Given the description of an element on the screen output the (x, y) to click on. 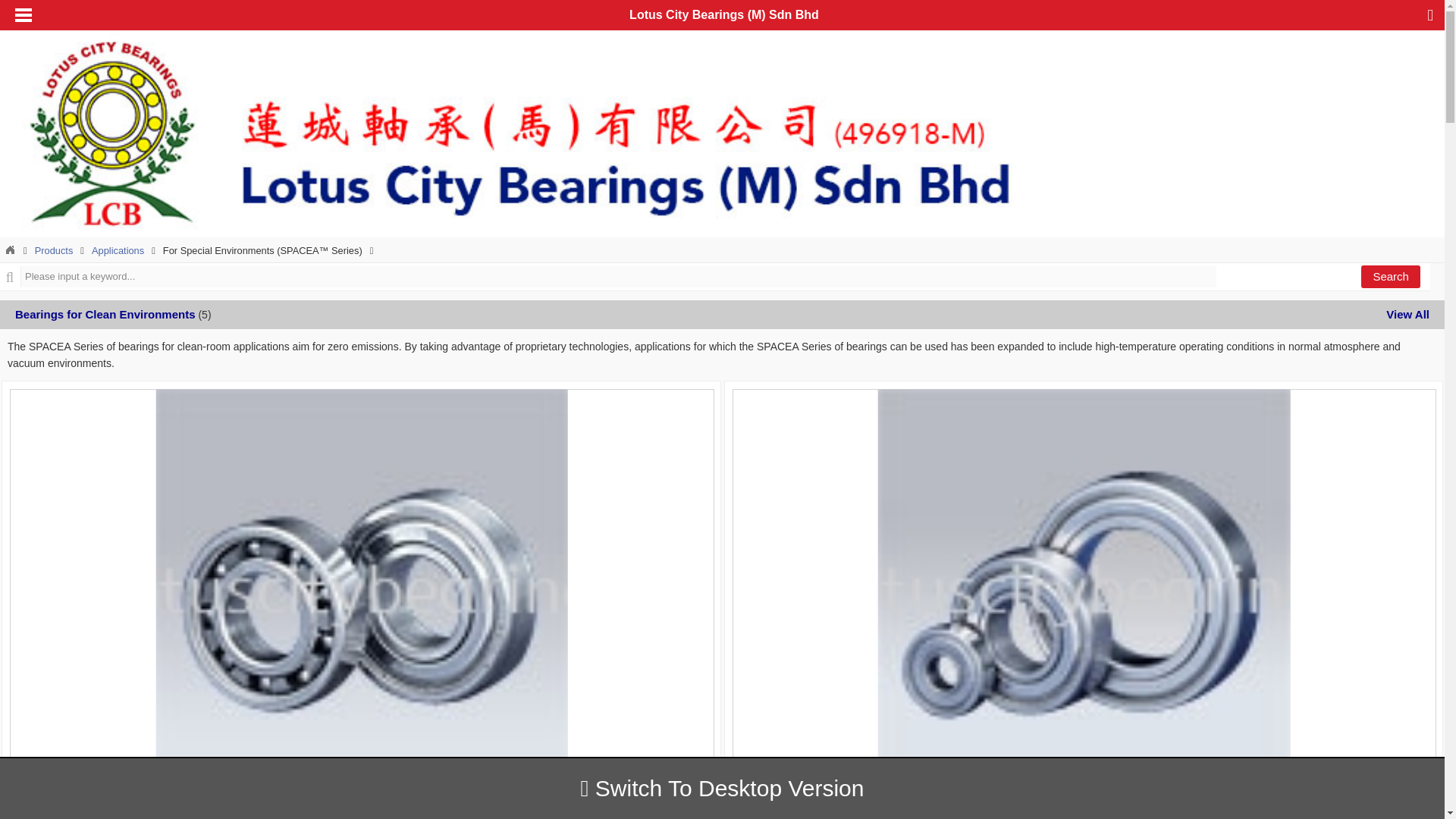
Home (10, 250)
Search (1391, 276)
View All (1407, 314)
Applications (117, 250)
Bearings for Clean Environments (104, 314)
Products (54, 250)
